Given the description of an element on the screen output the (x, y) to click on. 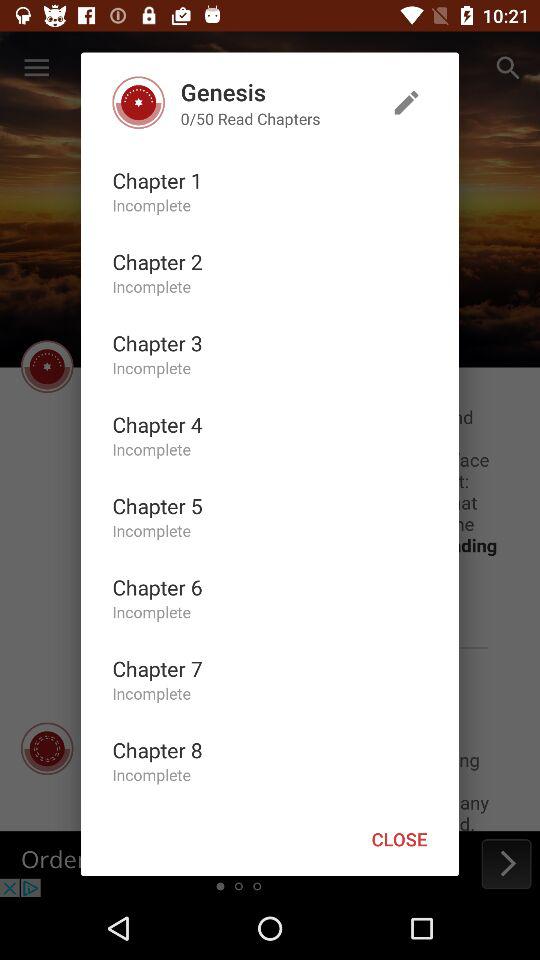
open the icon at the top right corner (406, 102)
